Given the description of an element on the screen output the (x, y) to click on. 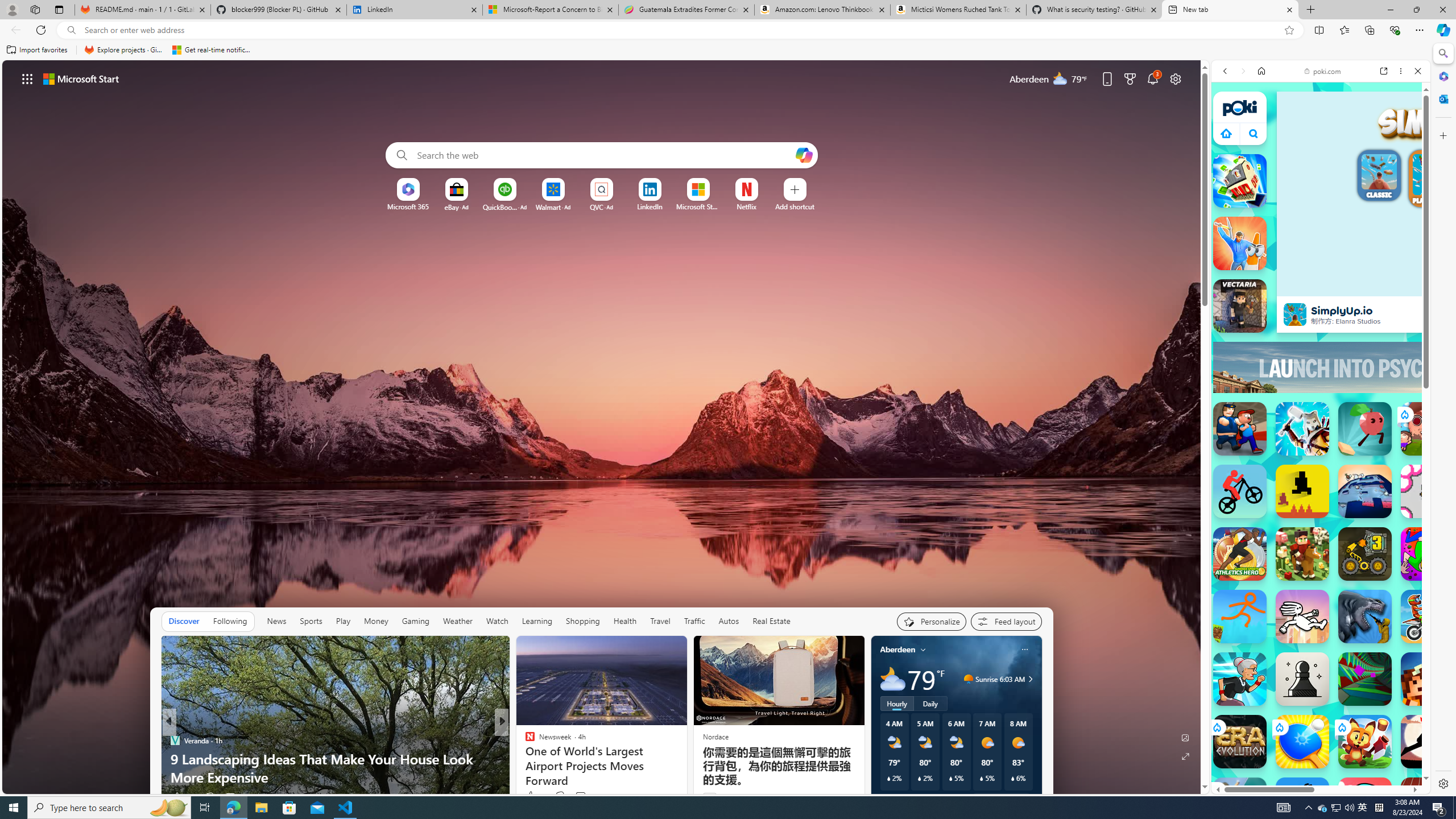
85 Like (530, 796)
Sunrise 6:03 AM (1028, 678)
Favorites bar (715, 49)
Stack City (1239, 180)
Vectaria.io Vectaria.io (1239, 305)
App launcher (27, 78)
Games for Girls (1320, 426)
